Given the description of an element on the screen output the (x, y) to click on. 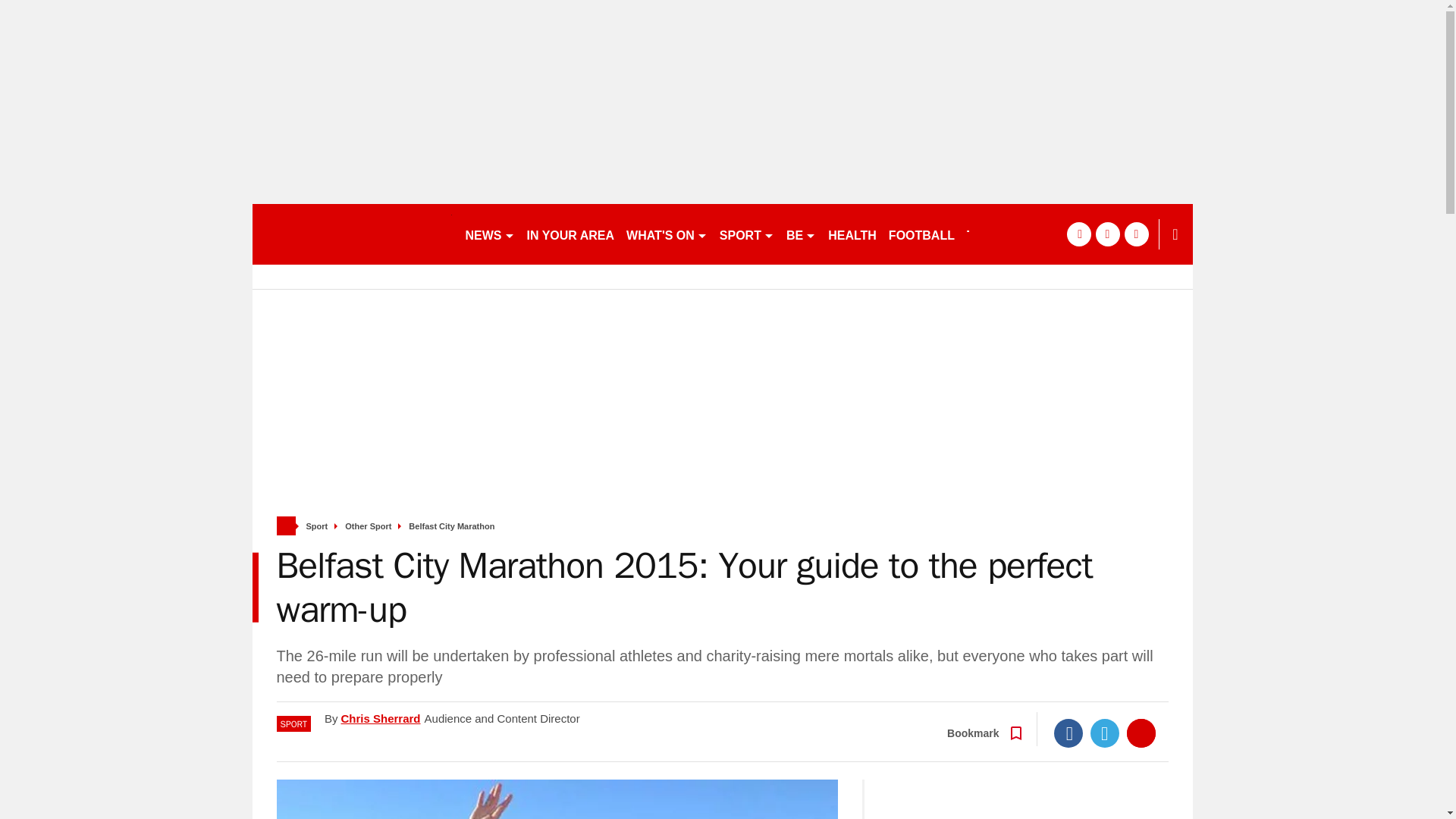
NEWS (490, 233)
instagram (1136, 233)
twitter (1106, 233)
Twitter (1104, 733)
Facebook (1068, 733)
belfastlive (351, 233)
facebook (1077, 233)
IN YOUR AREA (569, 233)
WHAT'S ON (666, 233)
SPORT (746, 233)
